Given the description of an element on the screen output the (x, y) to click on. 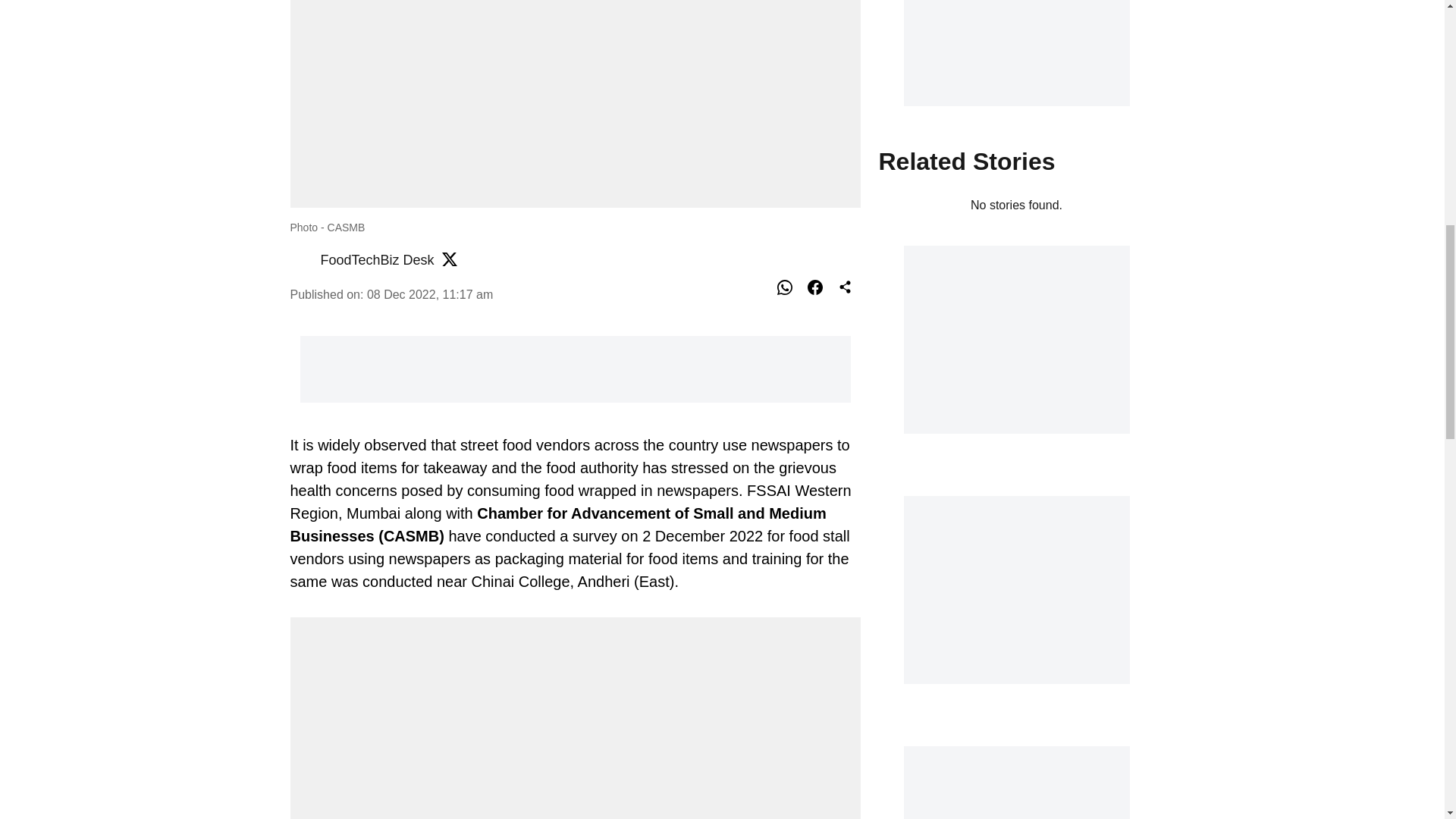
FoodTechBiz Desk (376, 259)
2022-12-08 03:17 (429, 294)
